Given the description of an element on the screen output the (x, y) to click on. 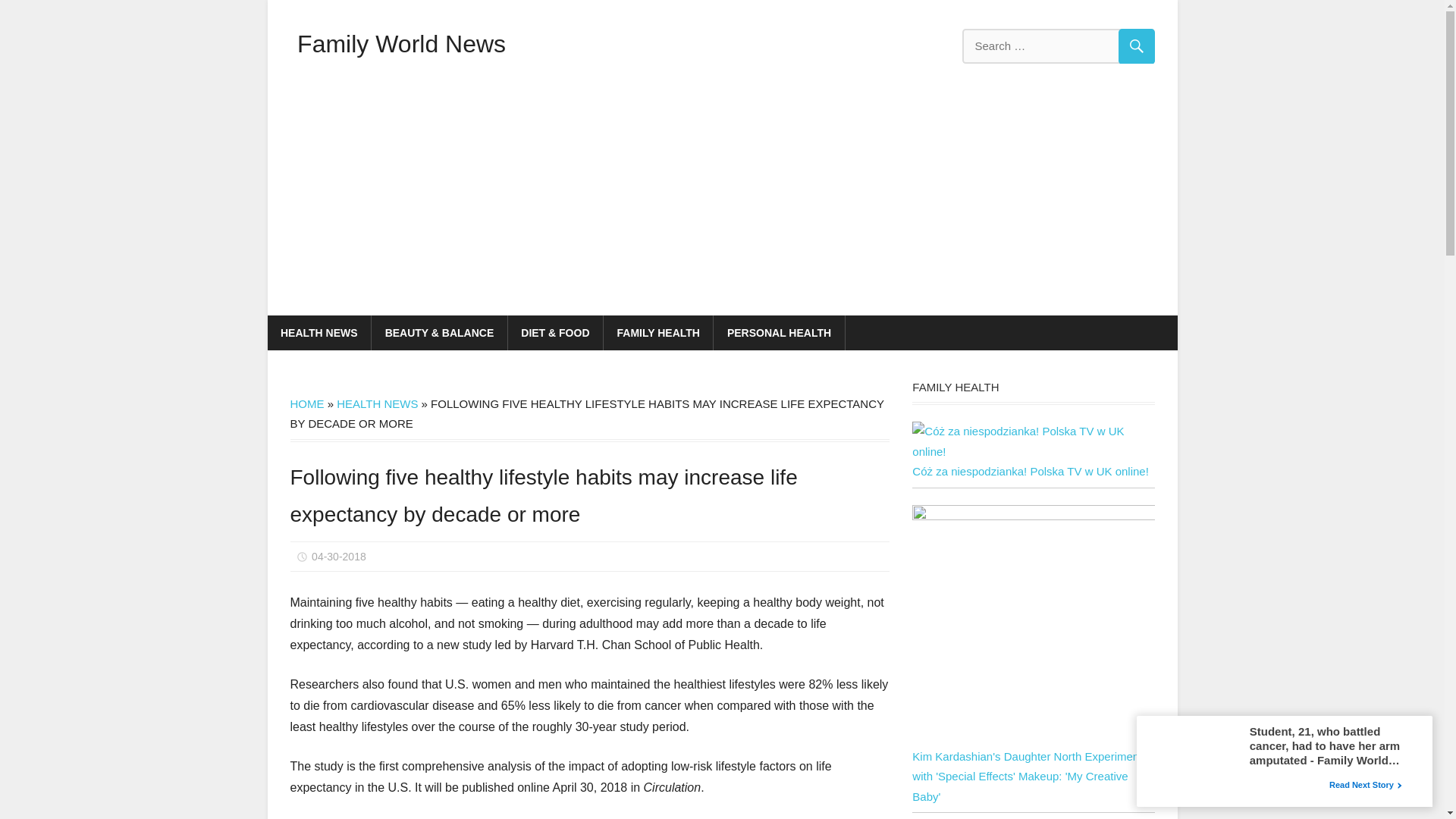
Family World News (401, 43)
PERSONAL HEALTH (778, 332)
22:09 (338, 556)
HEALTH NEWS (376, 403)
HOME (306, 403)
04-30-2018 (338, 556)
Health News (337, 462)
HEALTH NEWS (318, 332)
FAMILY HEALTH (658, 332)
Search for: (1057, 46)
